Given the description of an element on the screen output the (x, y) to click on. 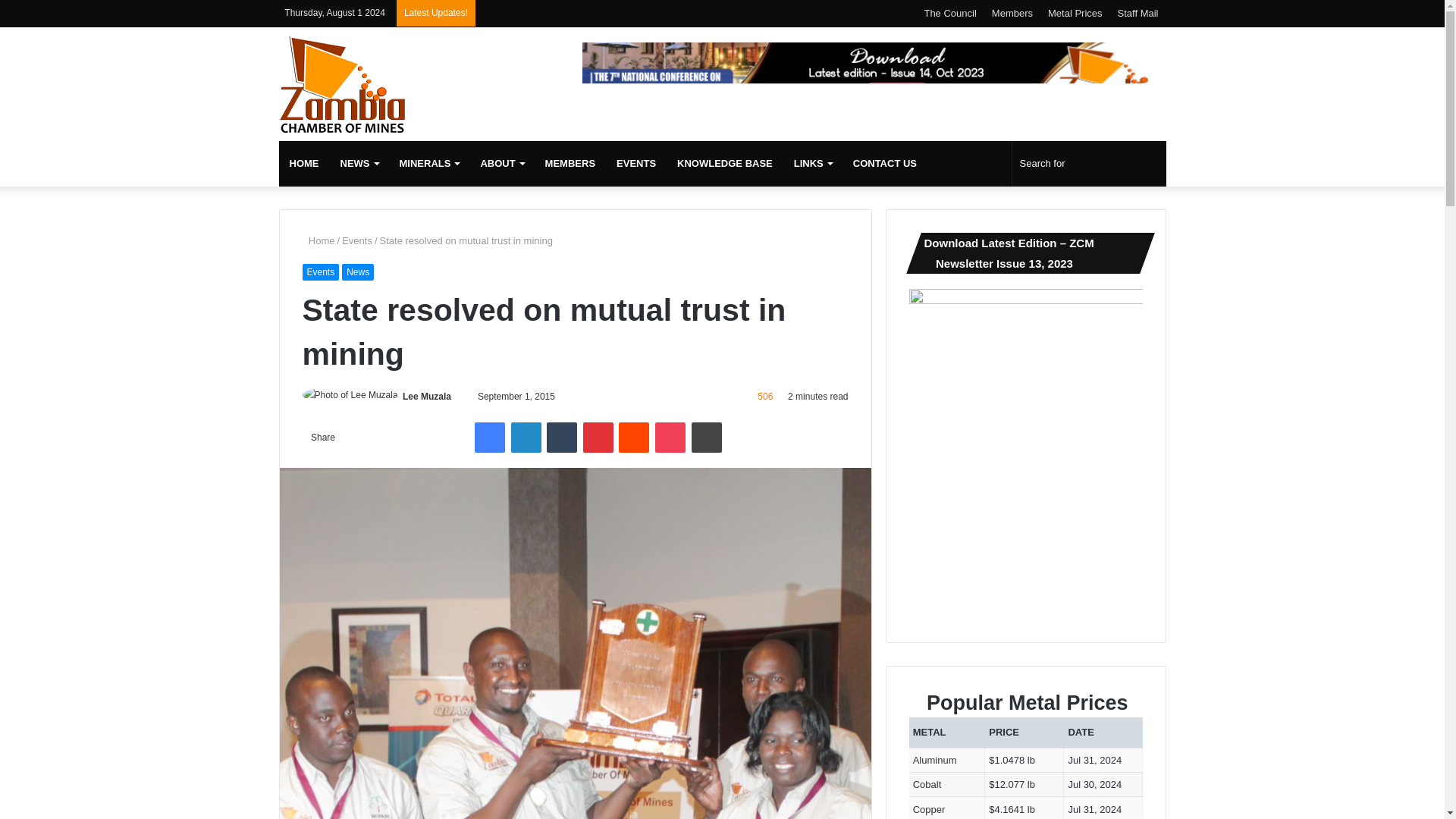
Reddit (633, 437)
Pinterest (597, 437)
Staff Mail (1137, 13)
ABOUT (501, 163)
Zambia Chamber of Mines (342, 84)
Pocket (670, 437)
EVENTS (635, 163)
LinkedIn (526, 437)
HOME (304, 163)
Lee Muzala (427, 396)
MEMBERS (569, 163)
Members (1012, 13)
Print (706, 437)
MINERALS (428, 163)
NEWS (358, 163)
